Given the description of an element on the screen output the (x, y) to click on. 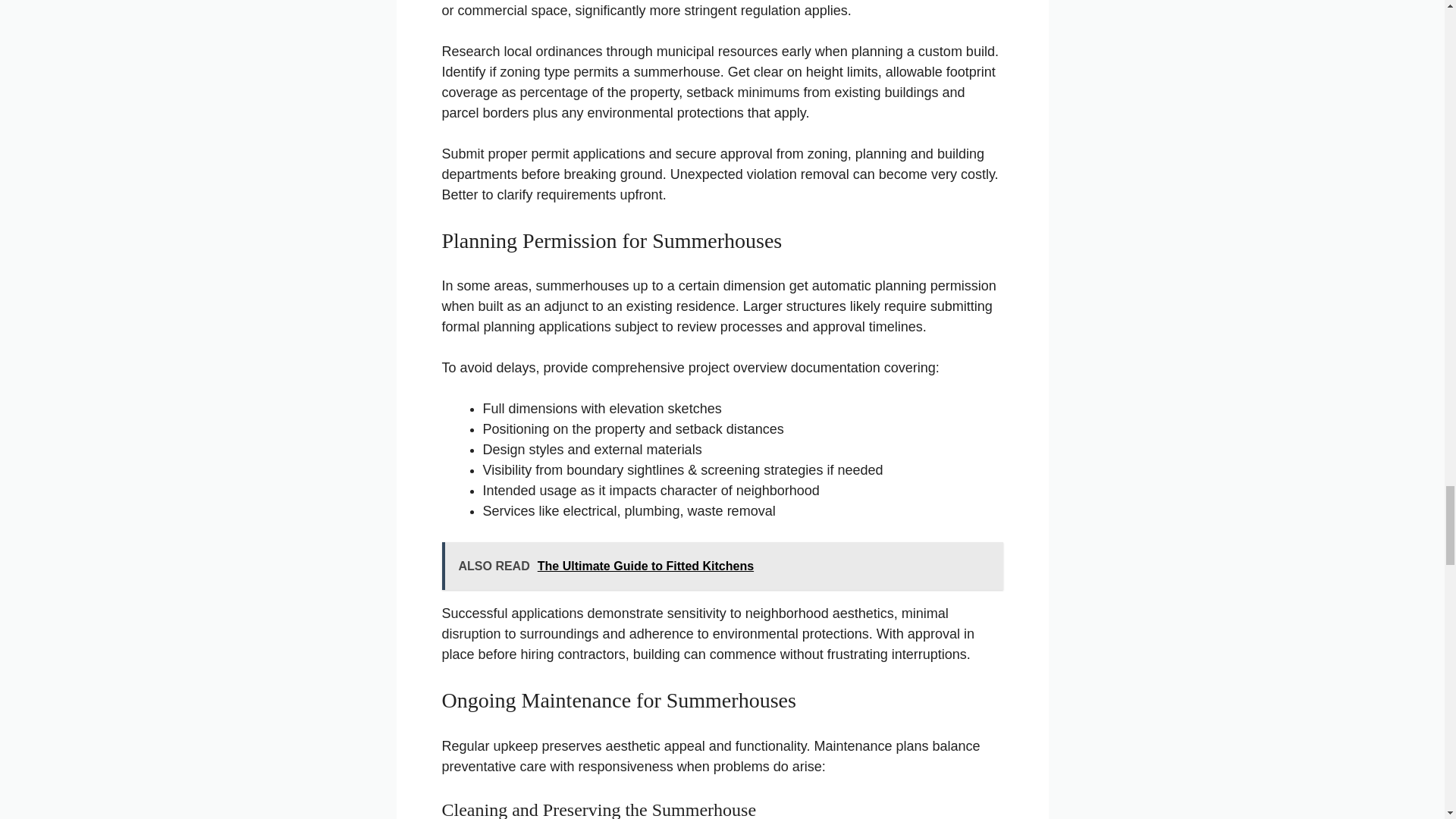
ALSO READ  The Ultimate Guide to Fitted Kitchens (722, 565)
